Given the description of an element on the screen output the (x, y) to click on. 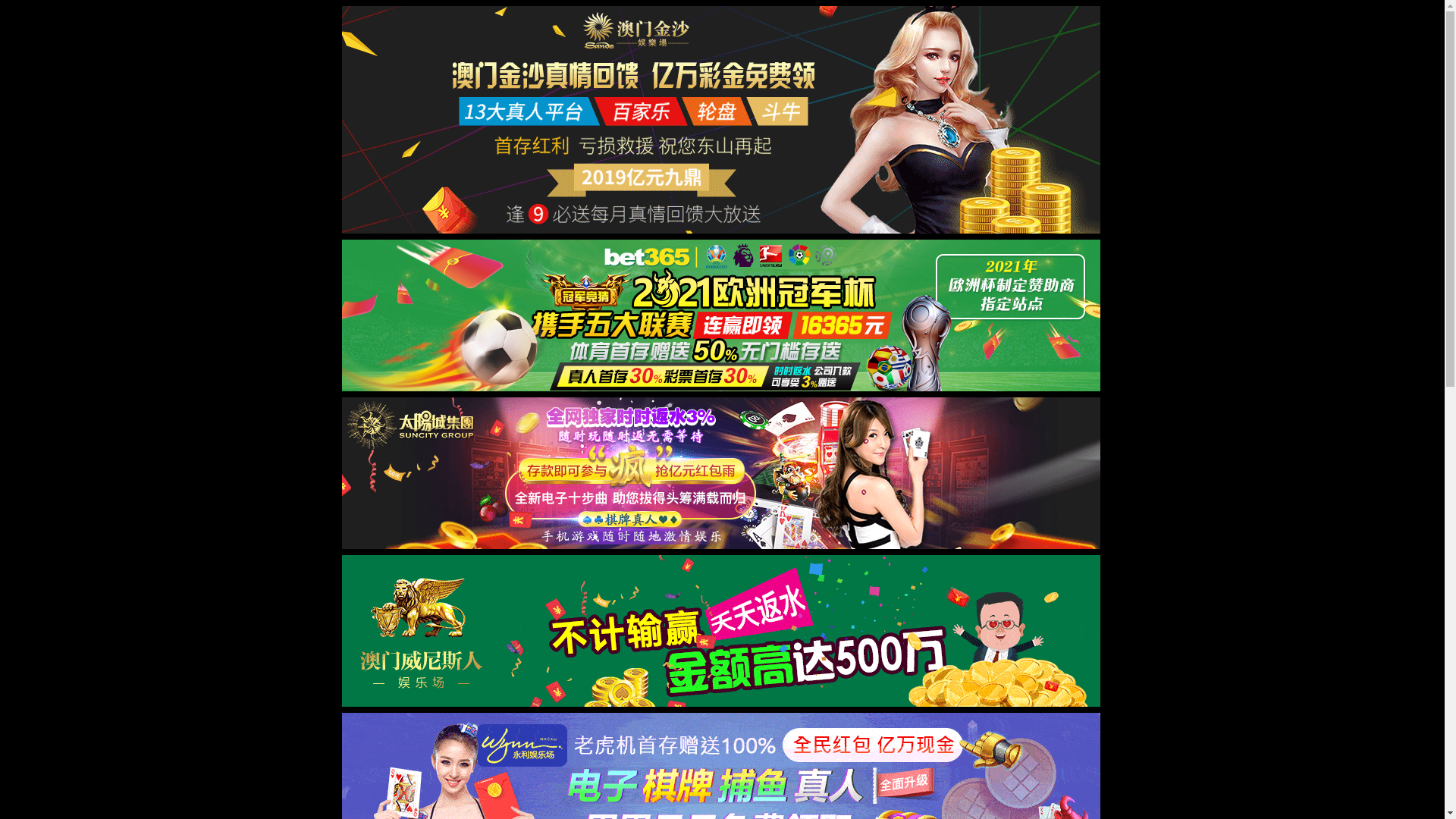
ENGLISH Element type: text (937, 42)
